Given the description of an element on the screen output the (x, y) to click on. 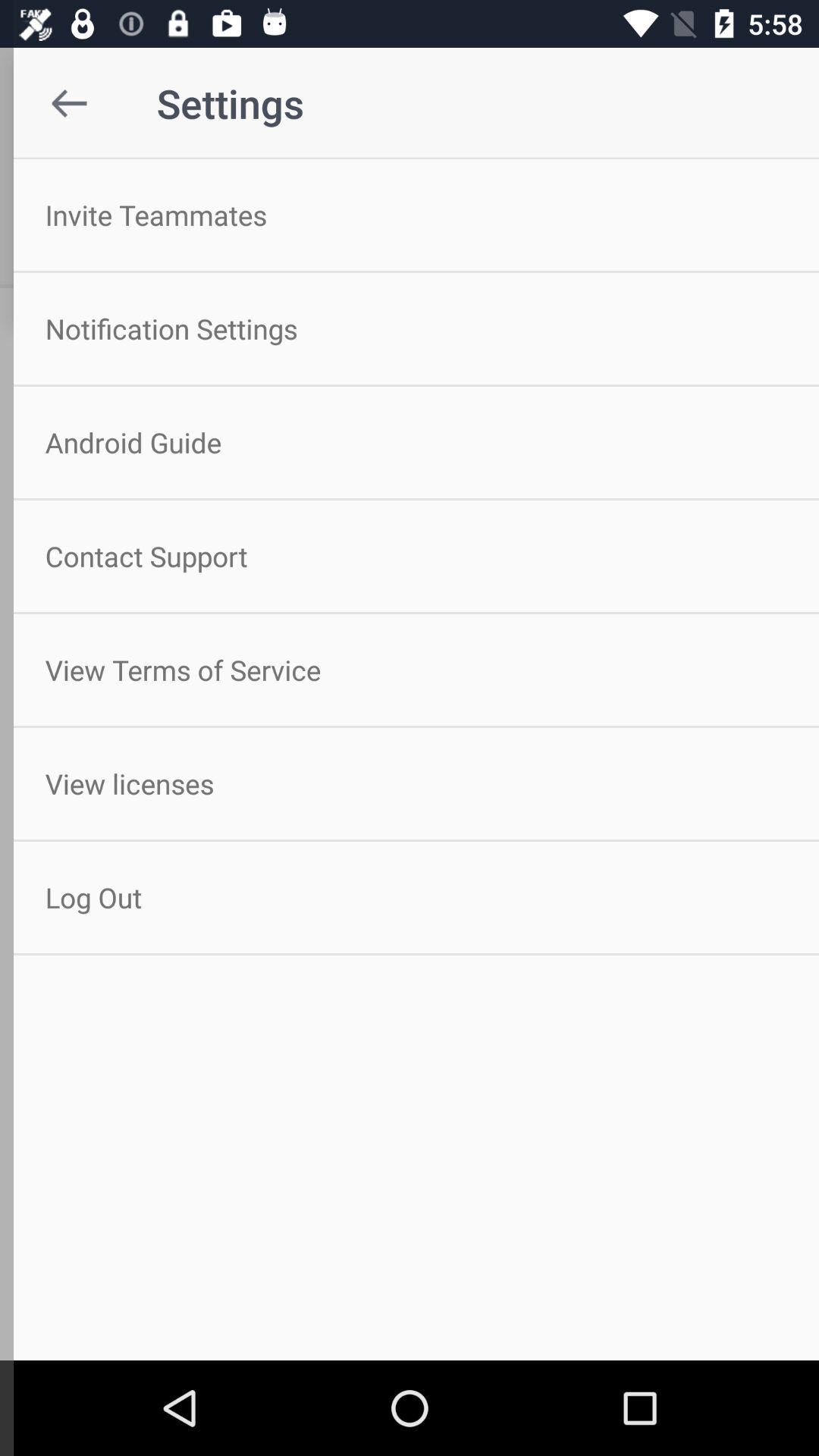
swipe until android guide item (409, 442)
